Given the description of an element on the screen output the (x, y) to click on. 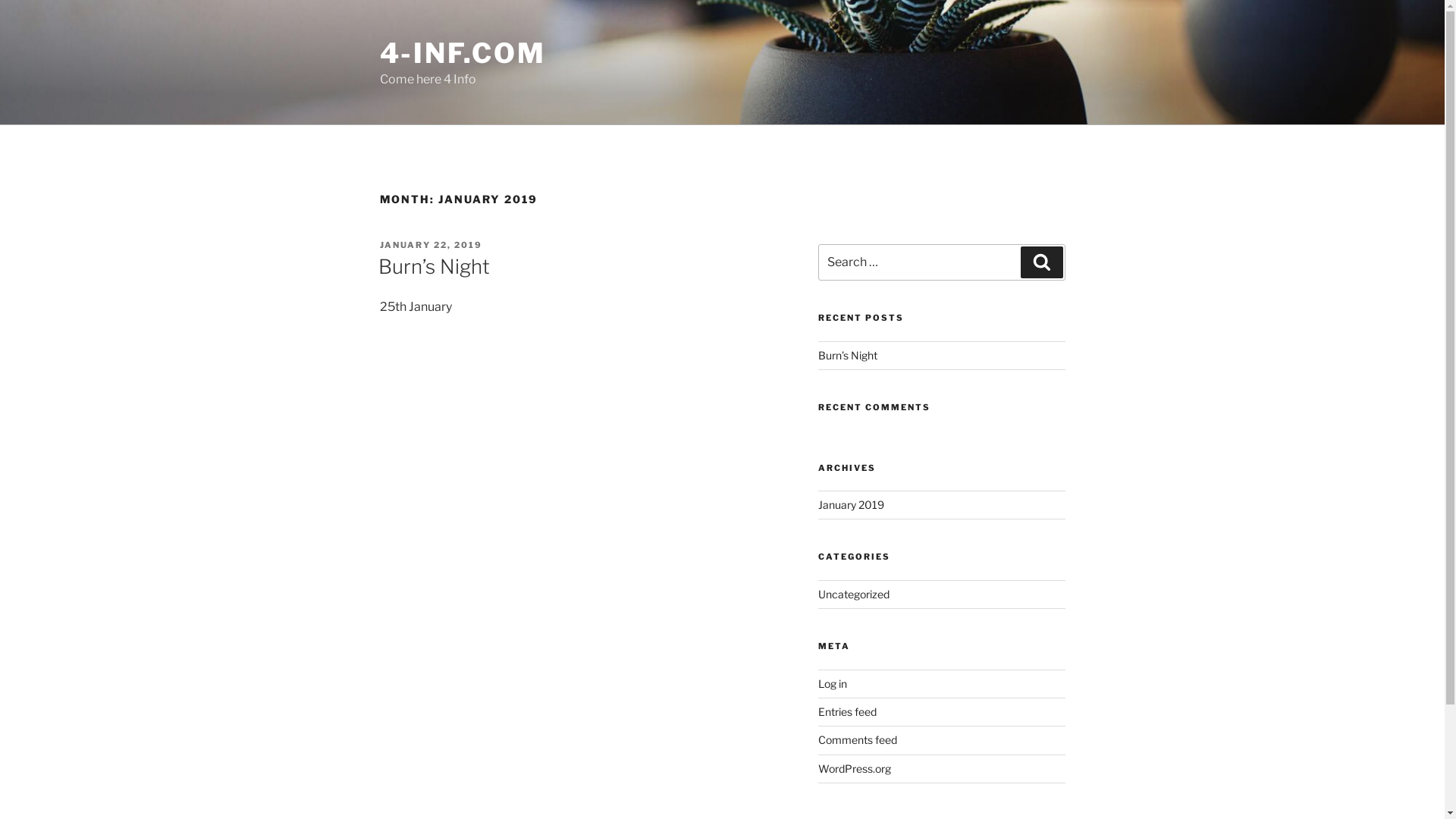
Uncategorized Element type: text (853, 593)
Log in Element type: text (832, 683)
Entries feed Element type: text (847, 711)
Search Element type: text (1041, 262)
WordPress.org Element type: text (854, 768)
Comments feed Element type: text (857, 739)
4-INF.COM Element type: text (462, 52)
January 2019 Element type: text (851, 504)
JANUARY 22, 2019 Element type: text (430, 244)
